Given the description of an element on the screen output the (x, y) to click on. 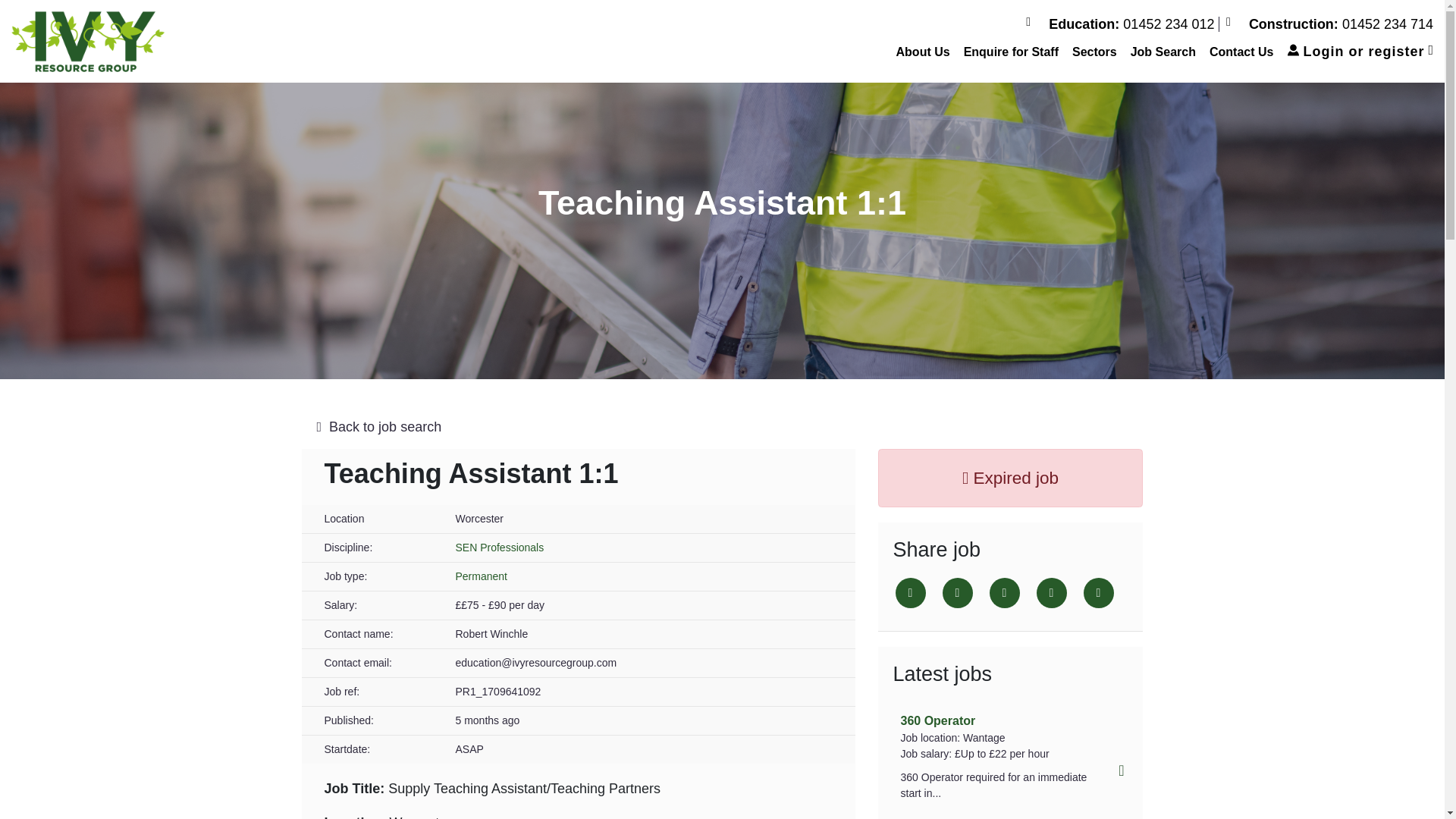
Construction: 01452 234 714 (1328, 23)
Sectors (1094, 51)
Enquire for Staff (1010, 51)
share on Facebook (957, 593)
send in Whatsapp (1098, 593)
Contact Us (1240, 51)
Tweet this (909, 593)
Email (1050, 593)
Education: 01452 234 012 (1123, 23)
About Us (922, 51)
Job Search (1163, 51)
Login or register (1359, 51)
share on LinkedIn (1003, 593)
